Given the description of an element on the screen output the (x, y) to click on. 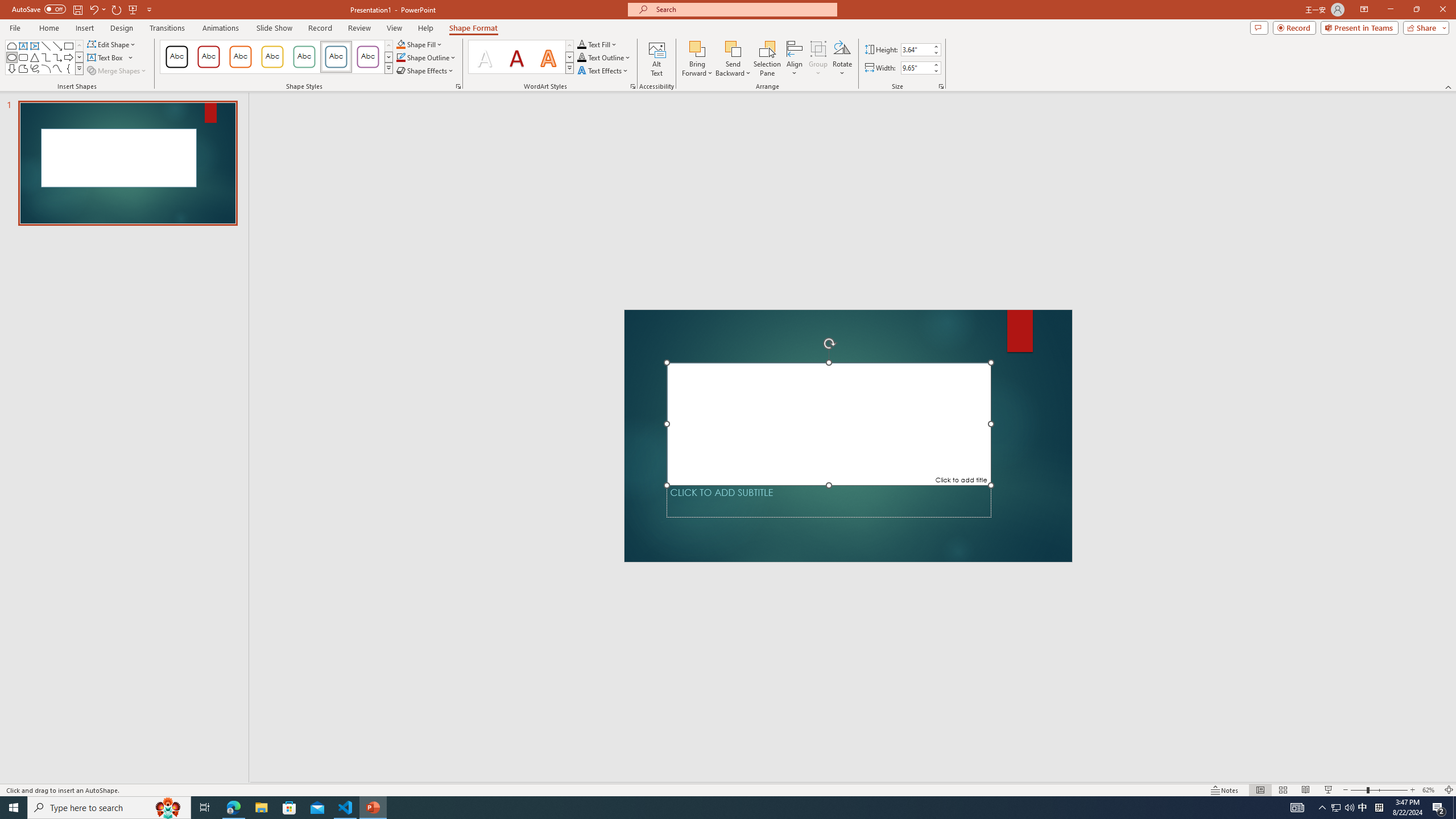
Colored Outline - Purple, Accent 6 (368, 56)
Colored Outline - Blue-Gray, Accent 5 (336, 56)
Text Outline (604, 56)
Shape Outline No Outline (400, 56)
